Given the description of an element on the screen output the (x, y) to click on. 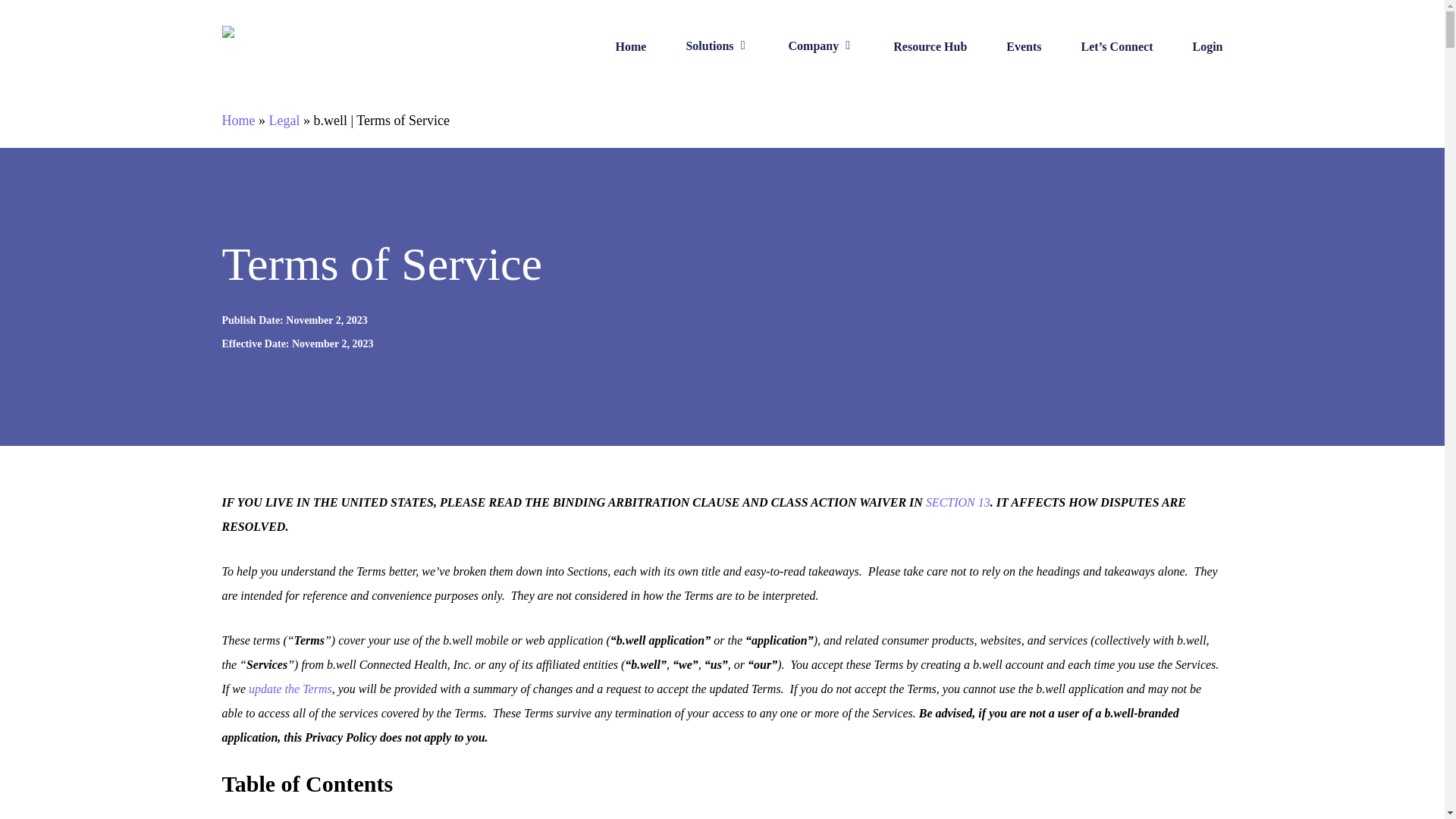
update the Terms (289, 688)
Home (630, 46)
Events (1023, 46)
Home (237, 120)
Solutions (716, 46)
Login (1207, 46)
Company (821, 46)
Legal (283, 120)
SECTION 13 (958, 502)
Resource Hub (929, 46)
